Given the description of an element on the screen output the (x, y) to click on. 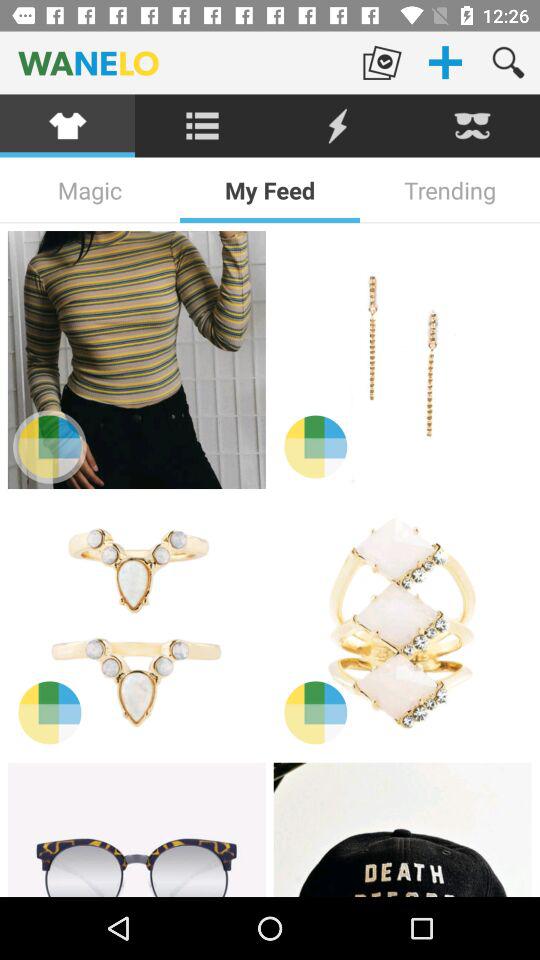
select ring option (136, 625)
